Given the description of an element on the screen output the (x, y) to click on. 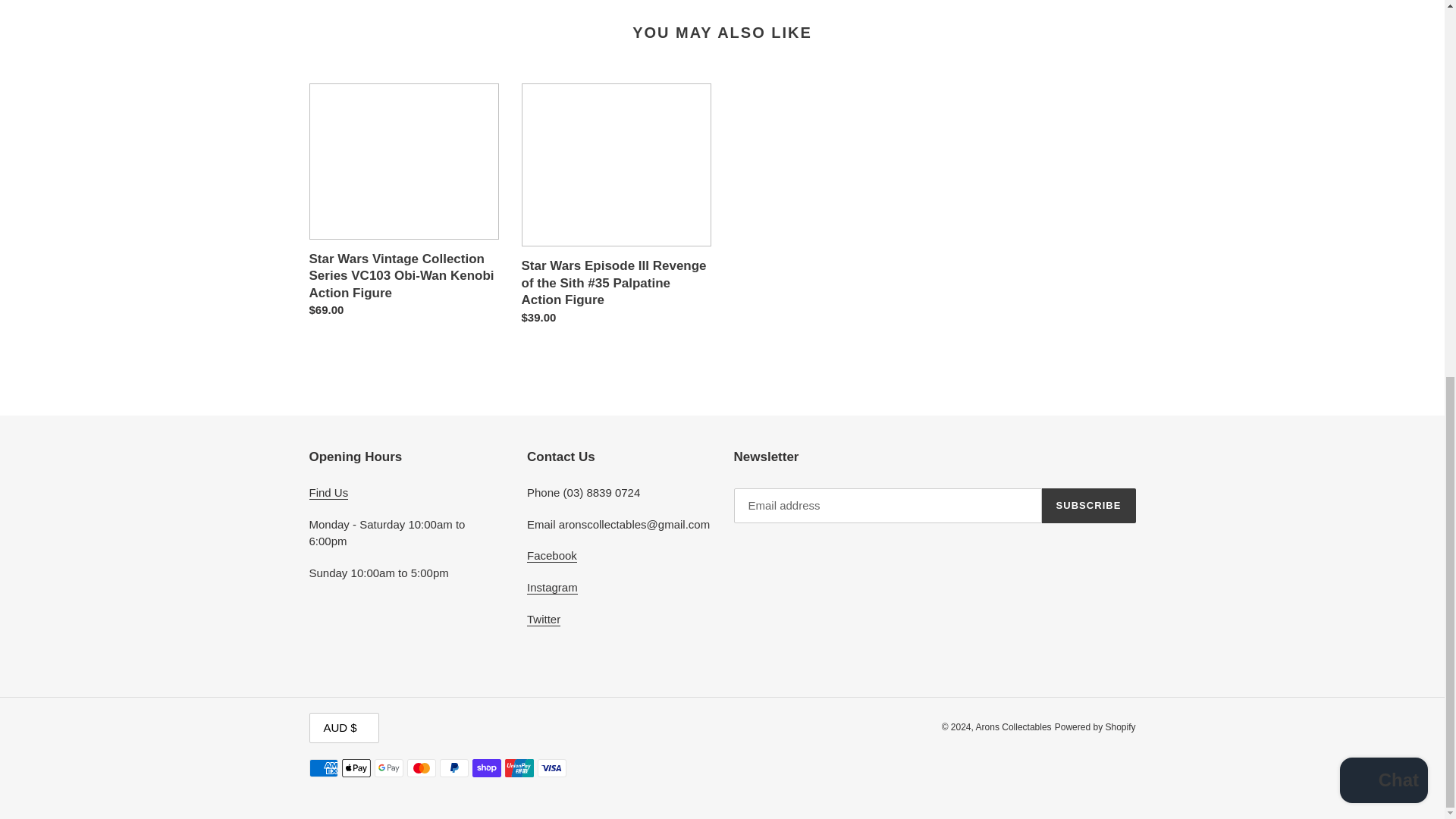
Facebook (551, 555)
Instagram (552, 587)
Find Us (328, 492)
Shopify online store chat (1383, 88)
Twitter (543, 619)
